Given the description of an element on the screen output the (x, y) to click on. 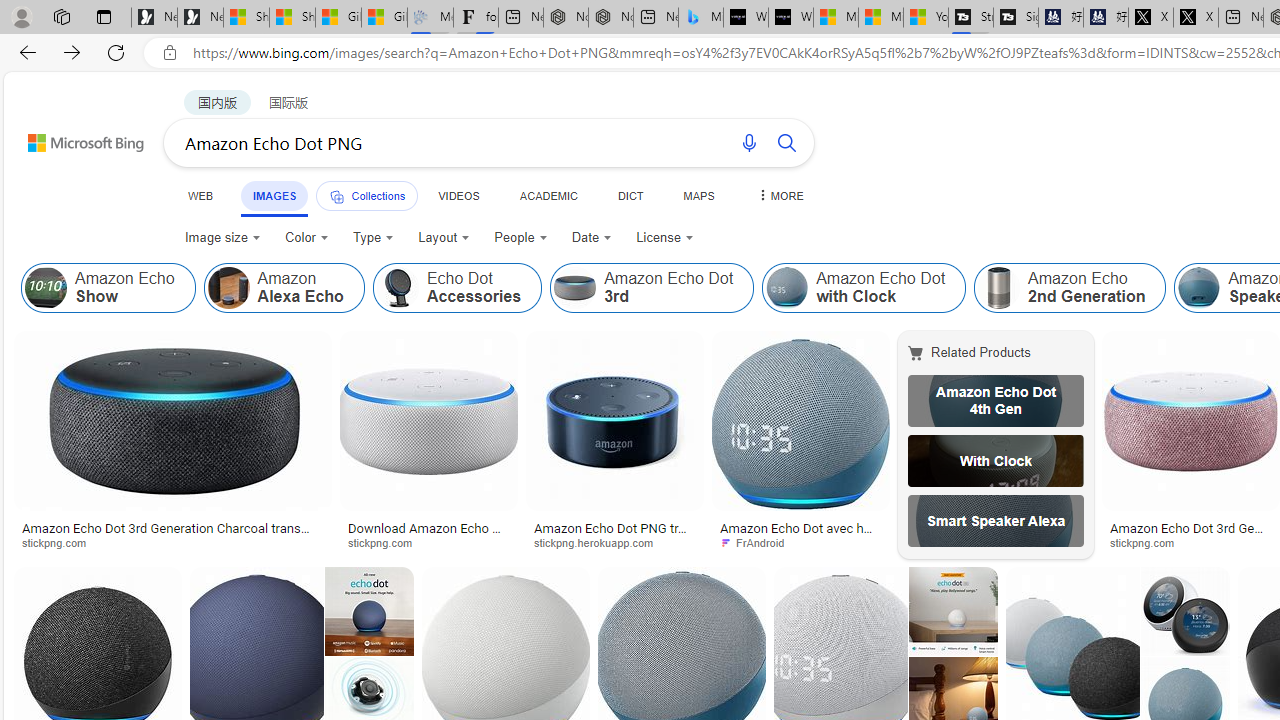
Type (373, 237)
Shanghai, China weather forecast | Microsoft Weather (292, 17)
Layout (443, 237)
People (520, 237)
Smart Speaker Alexa (995, 521)
MORE (779, 195)
Amazon Echo Dot 4th Gen (995, 400)
IMAGES (274, 196)
Image size (221, 237)
Back to Bing search (73, 138)
DICT (630, 195)
Search using voice (748, 142)
